Given the description of an element on the screen output the (x, y) to click on. 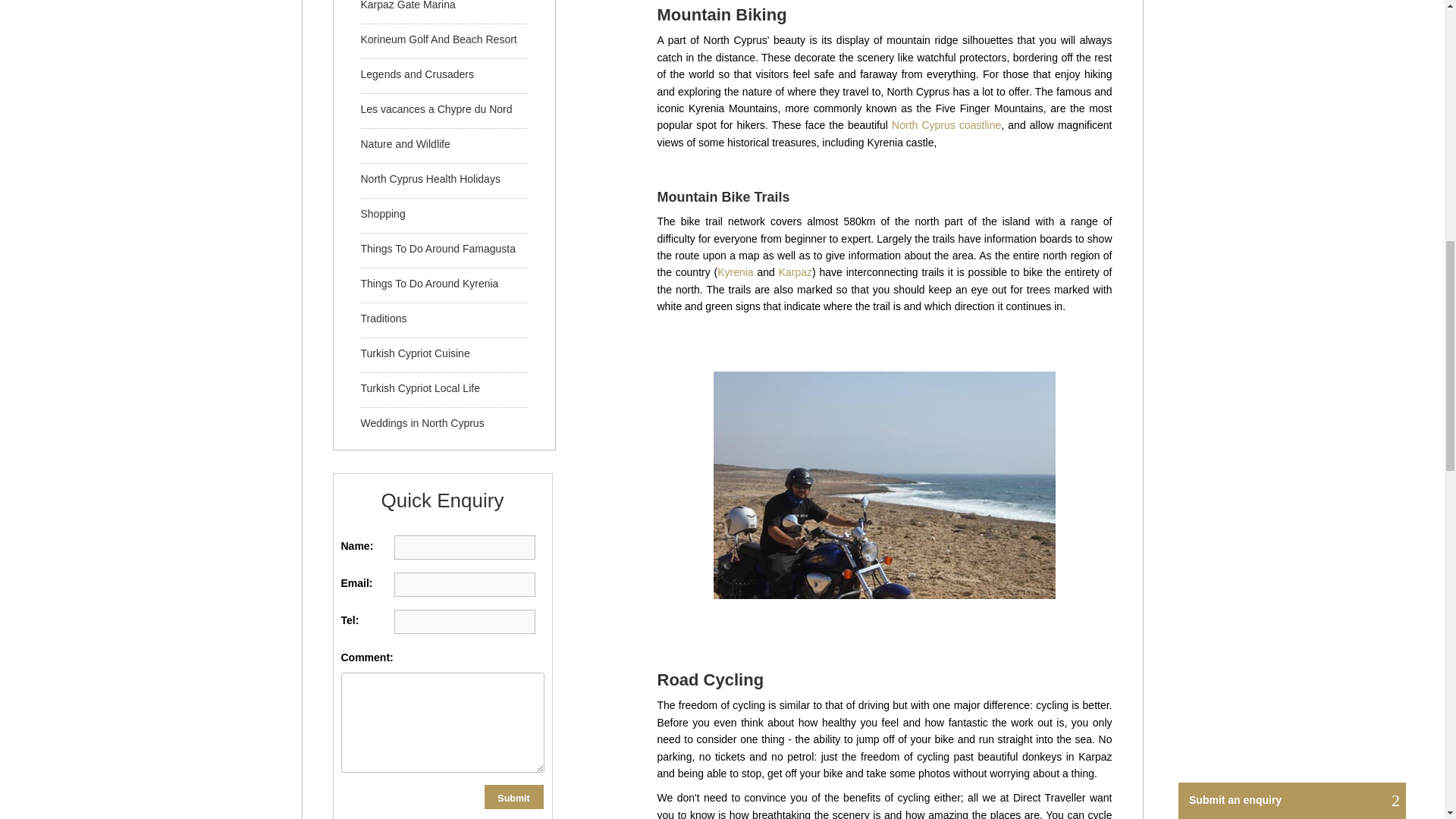
Submit (513, 796)
